Given the description of an element on the screen output the (x, y) to click on. 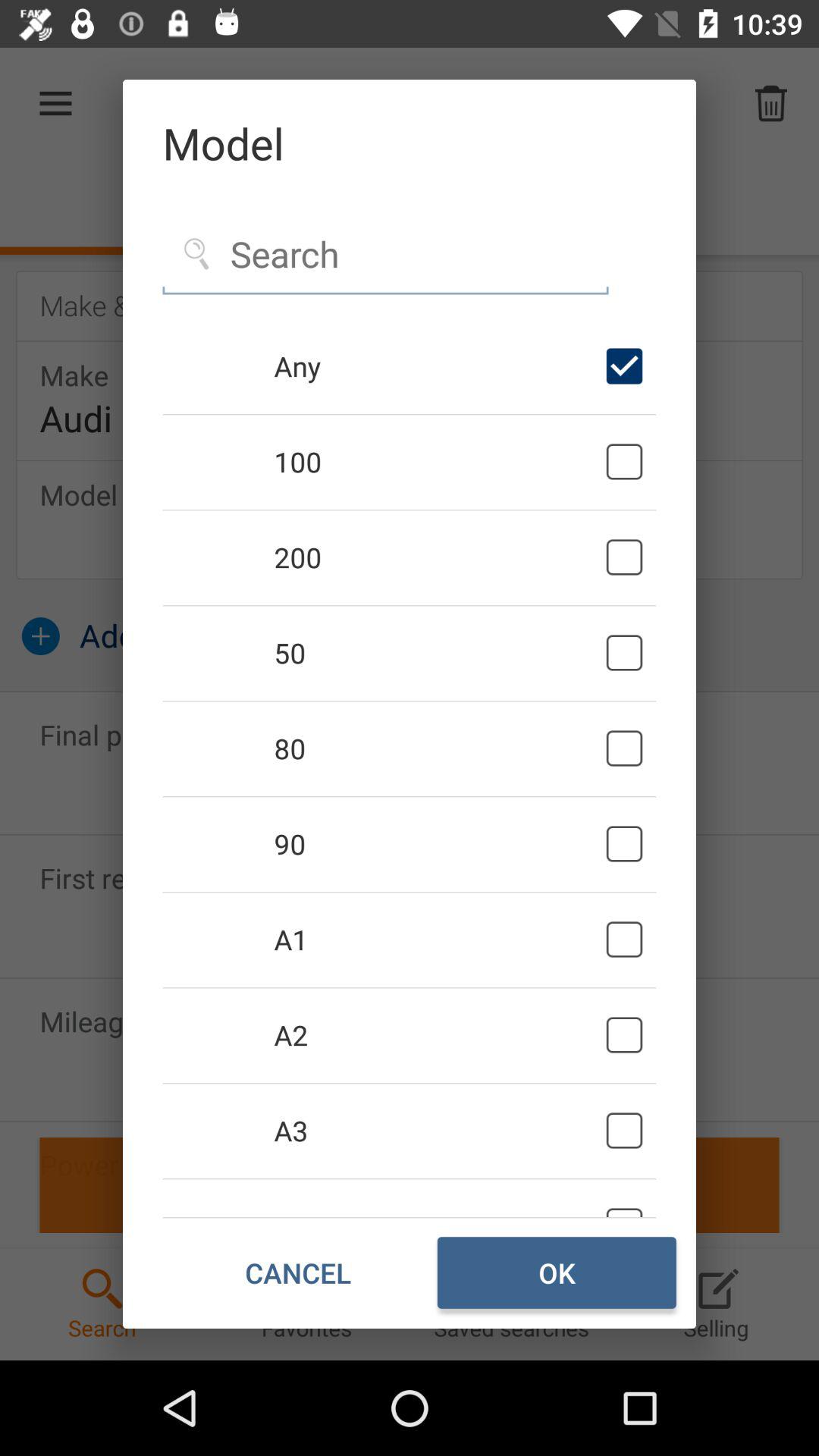
select item next to cancel item (556, 1272)
